Given the description of an element on the screen output the (x, y) to click on. 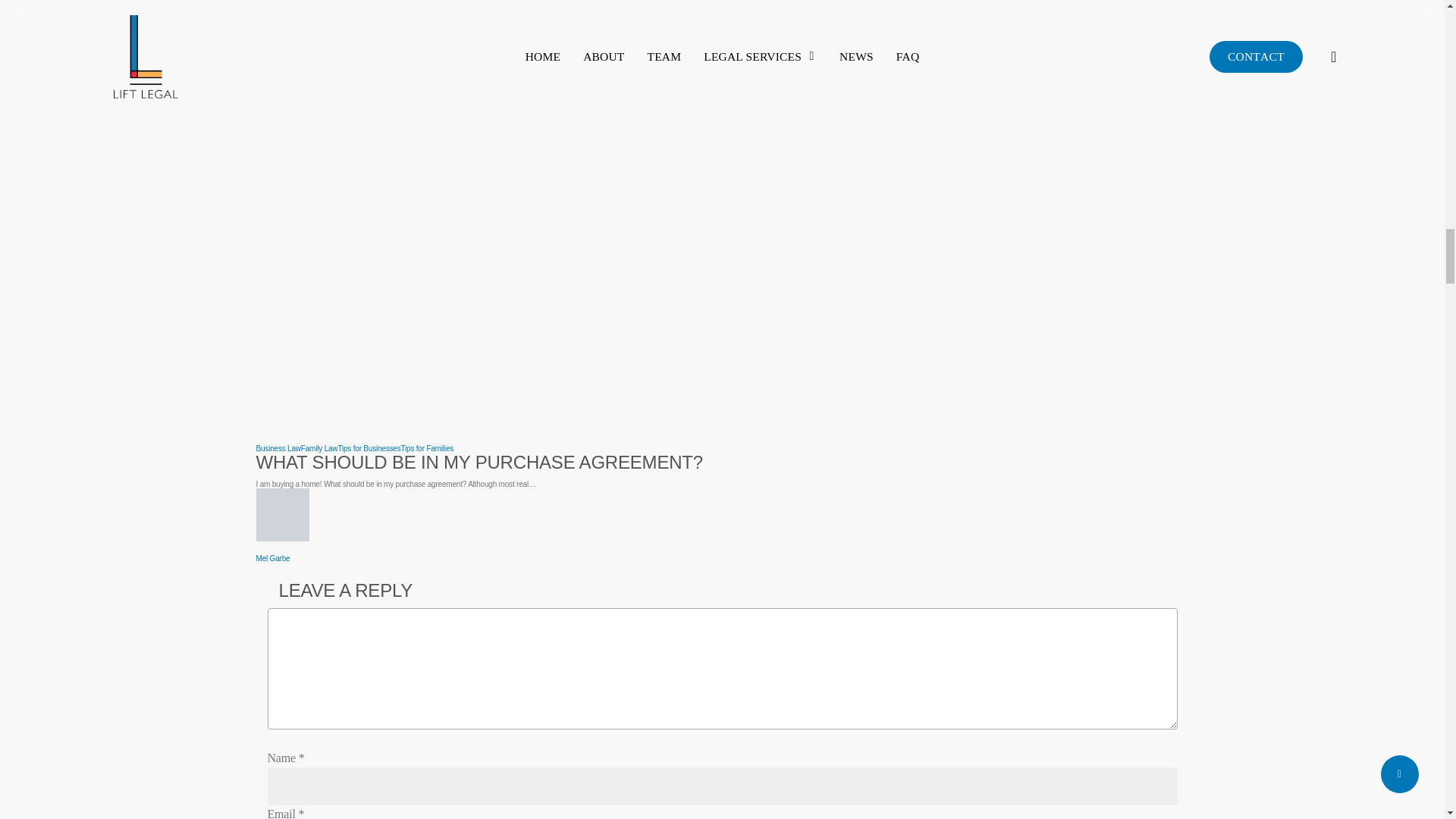
Tips for Families (426, 448)
Business Law (278, 448)
Tips for Businesses (368, 448)
Family Law (319, 448)
